Given the description of an element on the screen output the (x, y) to click on. 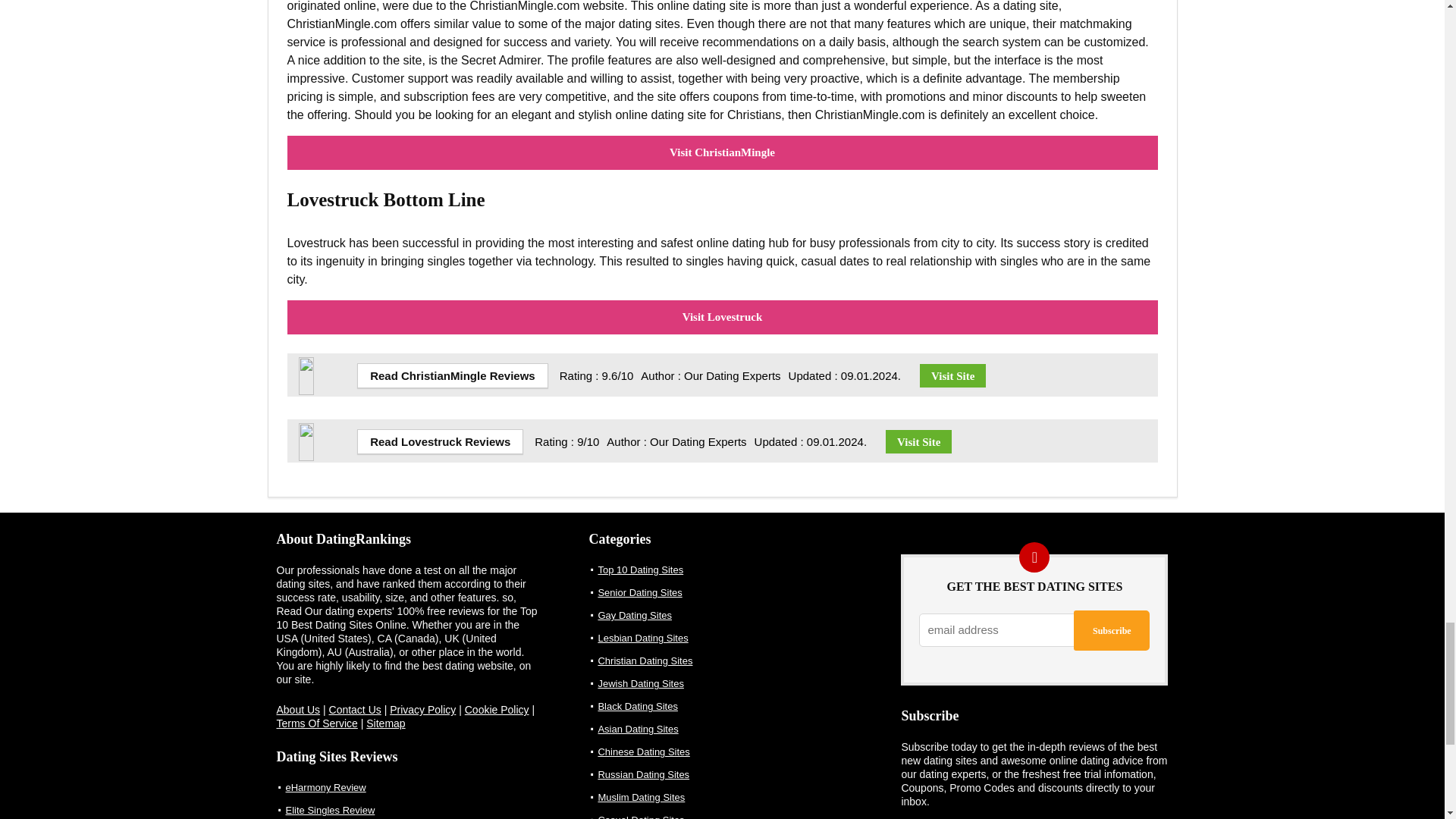
Subscribe (1112, 630)
Visit ChristianMingle (952, 375)
Lovestruck Reviews (324, 429)
Visit Lovestruck (918, 441)
Lovestruck Reviews (439, 441)
ChristianMingle Reviews (452, 375)
ChristianMingle Reviews (324, 363)
